Given the description of an element on the screen output the (x, y) to click on. 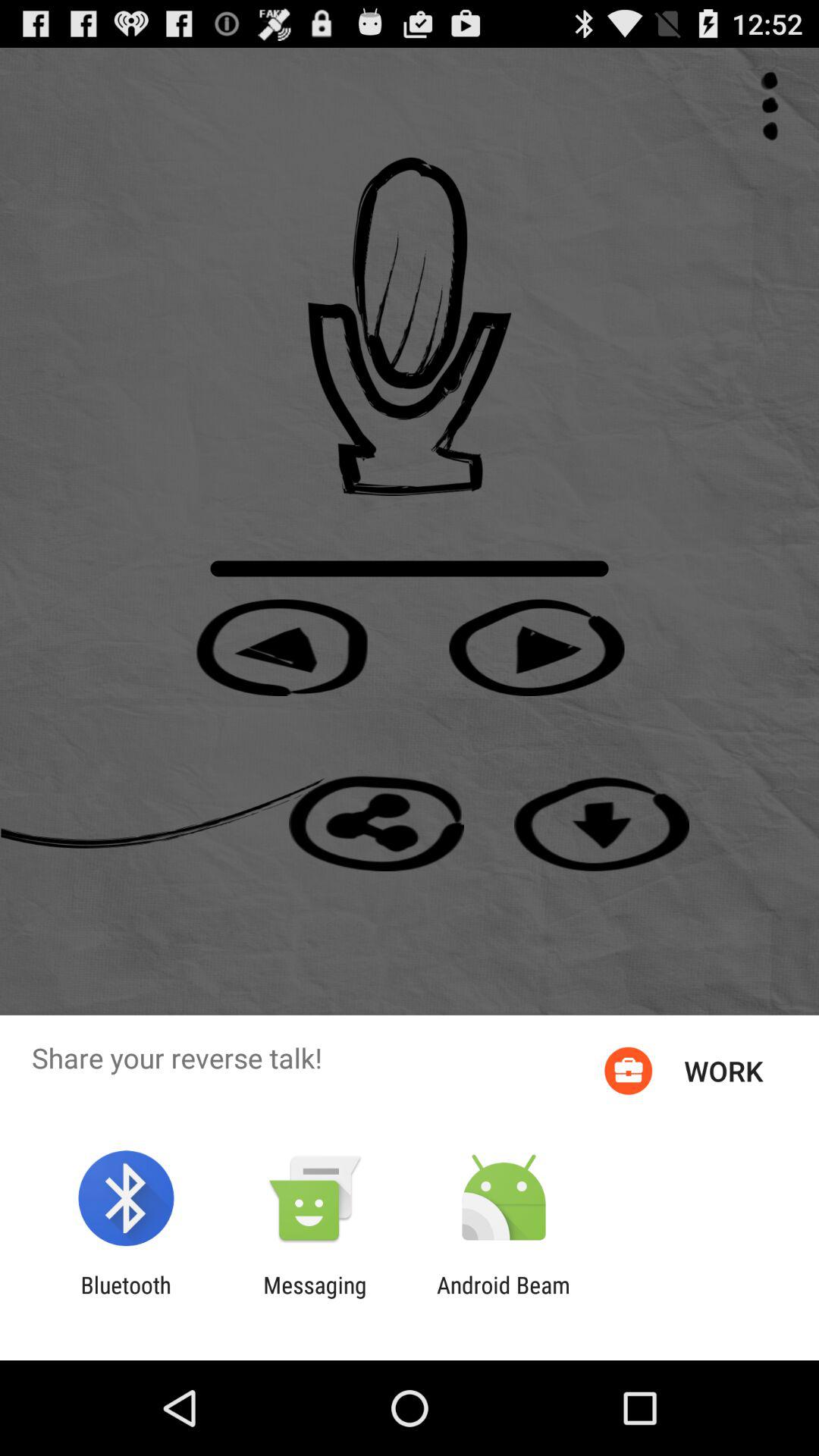
turn on the item next to android beam item (314, 1298)
